Given the description of an element on the screen output the (x, y) to click on. 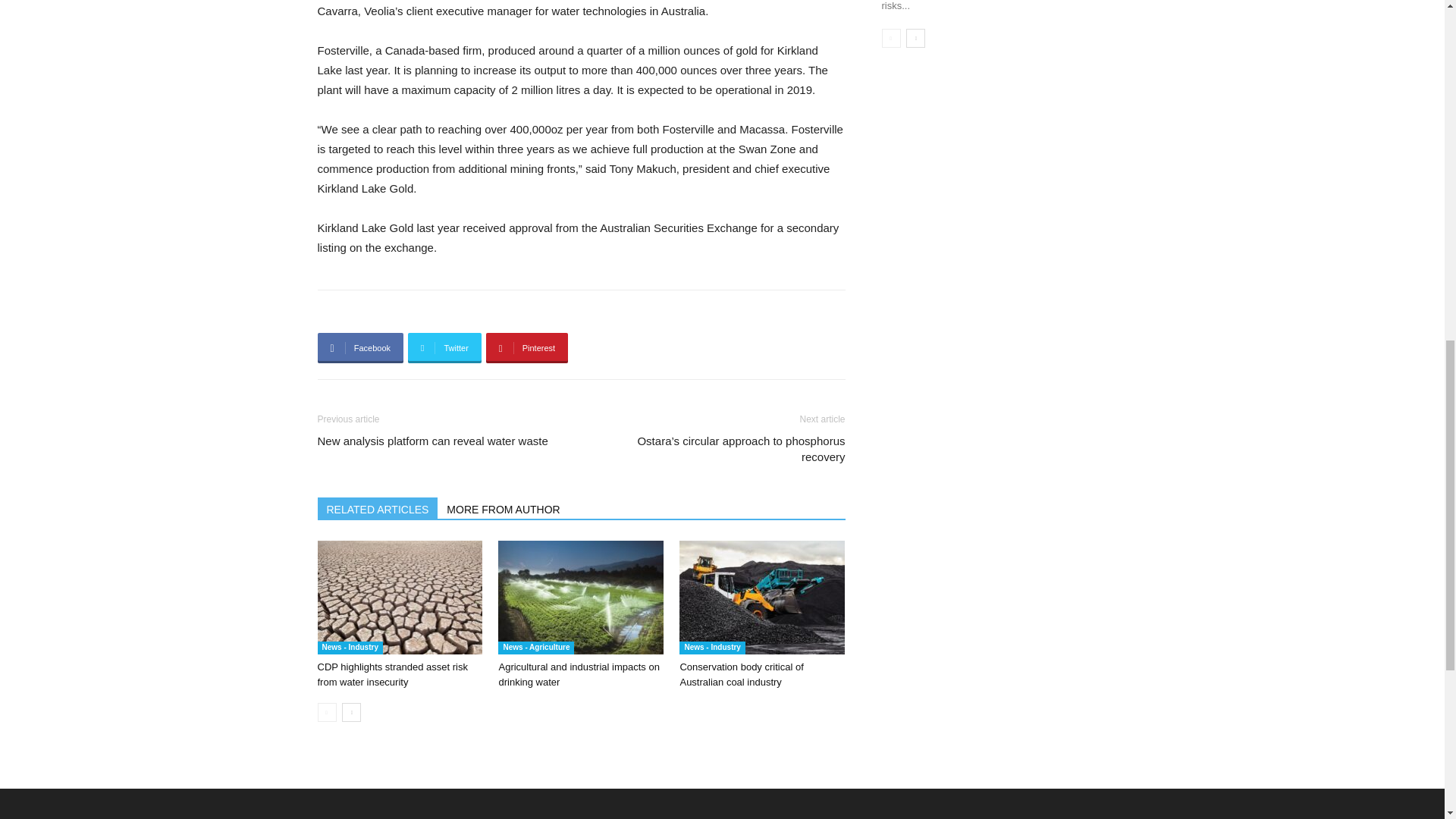
Conservation body critical of Australian coal industry (741, 673)
Agricultural and industrial impacts on drinking water (580, 597)
CDP highlights stranded asset risk from water insecurity (392, 673)
Agricultural and industrial impacts on drinking water (578, 673)
Conservation body critical of Australian coal industry (761, 597)
CDP highlights stranded asset risk from water insecurity (399, 597)
